Given the description of an element on the screen output the (x, y) to click on. 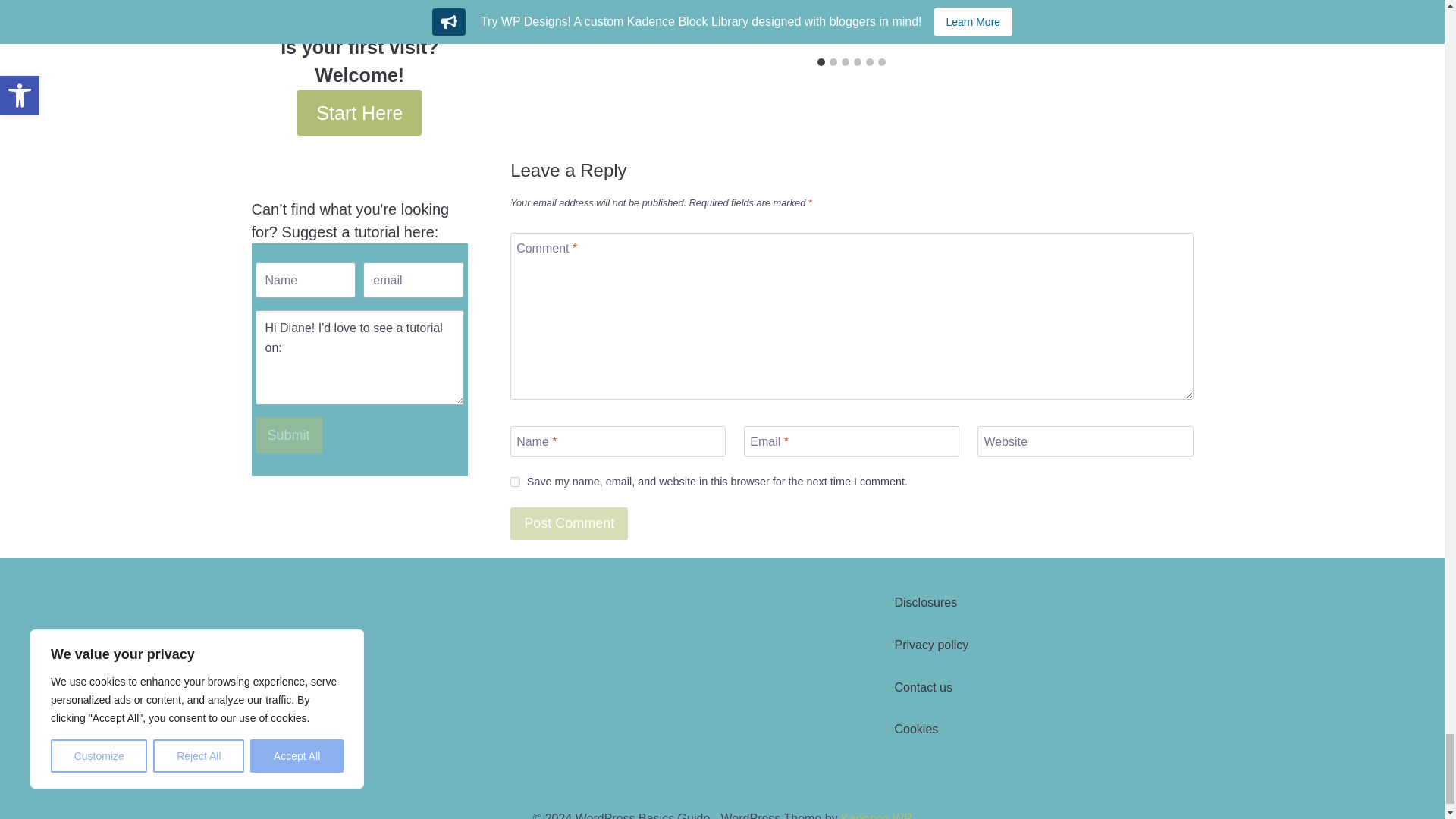
yes (515, 481)
Post Comment (569, 522)
